Given the description of an element on the screen output the (x, y) to click on. 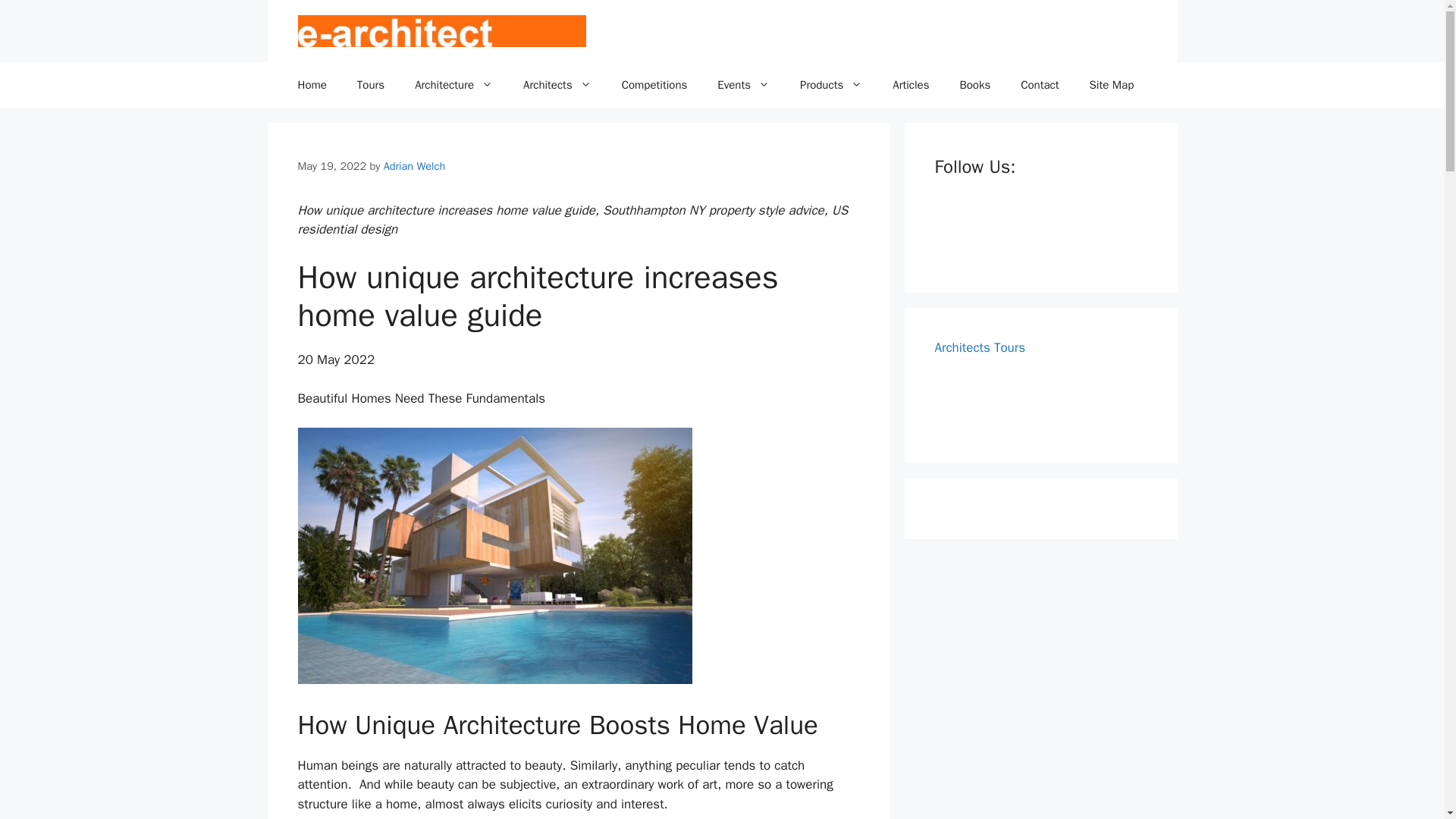
Adrian Welch (414, 165)
Architects (557, 84)
Products (830, 84)
Events (742, 84)
Articles (910, 84)
Books (974, 84)
Site Map (1112, 84)
twitter (1000, 235)
facebook (954, 235)
View all posts by Adrian Welch (414, 165)
